Given the description of an element on the screen output the (x, y) to click on. 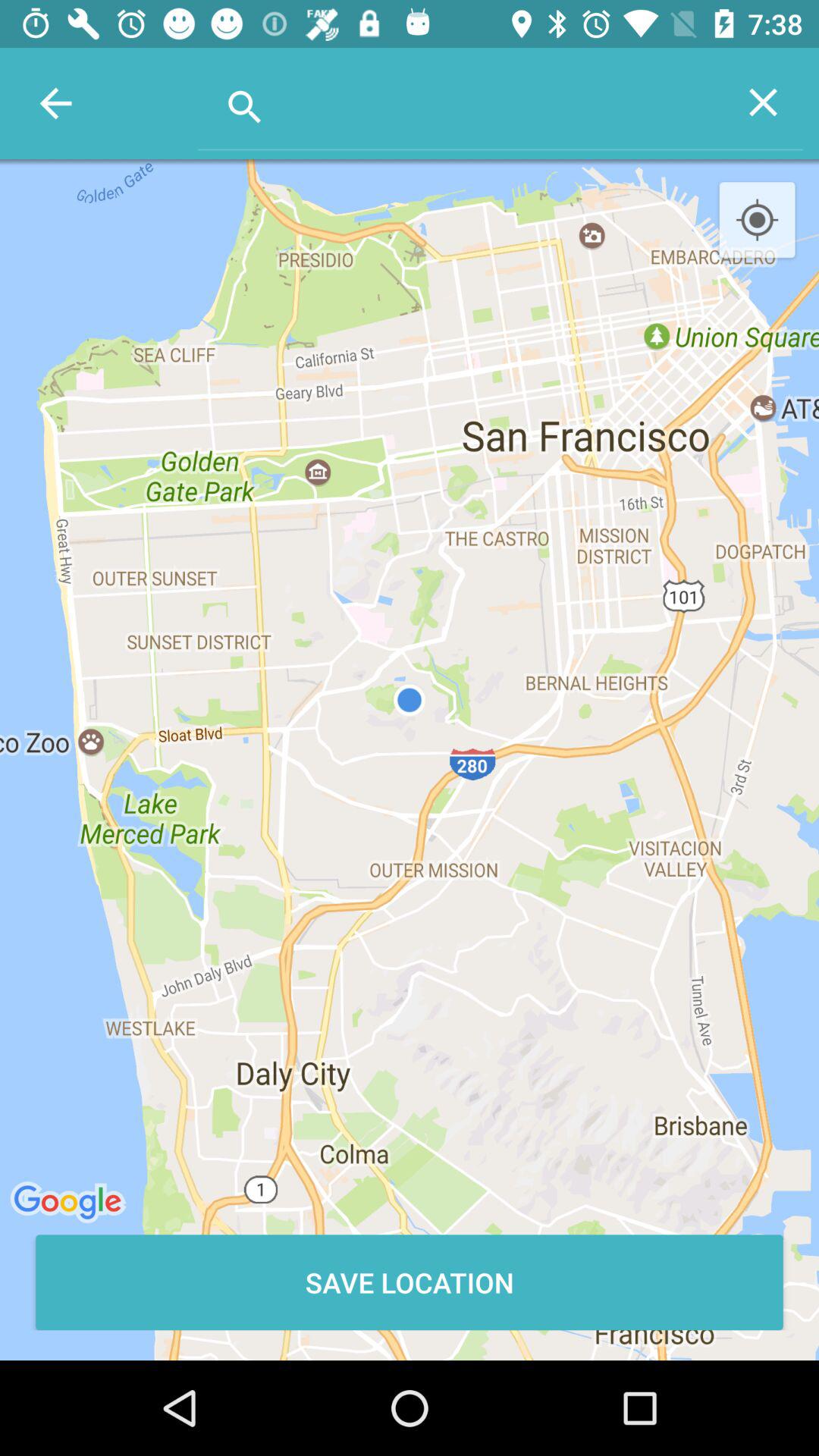
search button (460, 102)
